Given the description of an element on the screen output the (x, y) to click on. 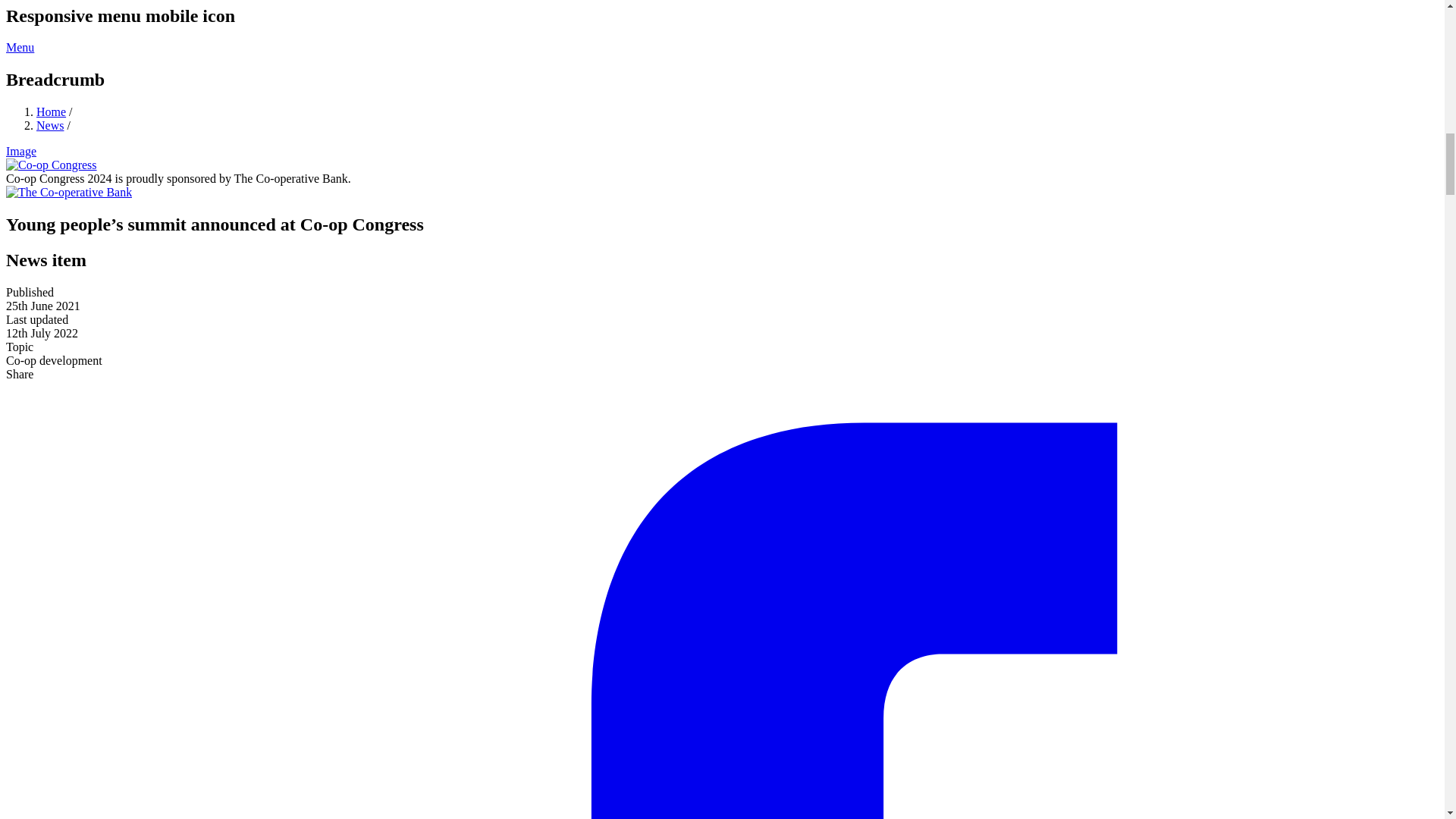
Menu (19, 47)
